Given the description of an element on the screen output the (x, y) to click on. 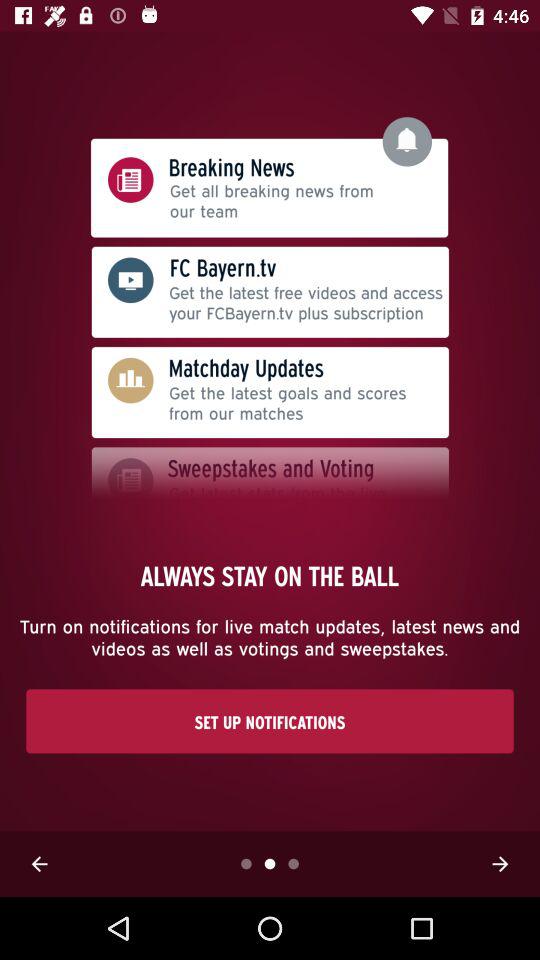
select icon below the turn on notifications icon (269, 721)
